Given the description of an element on the screen output the (x, y) to click on. 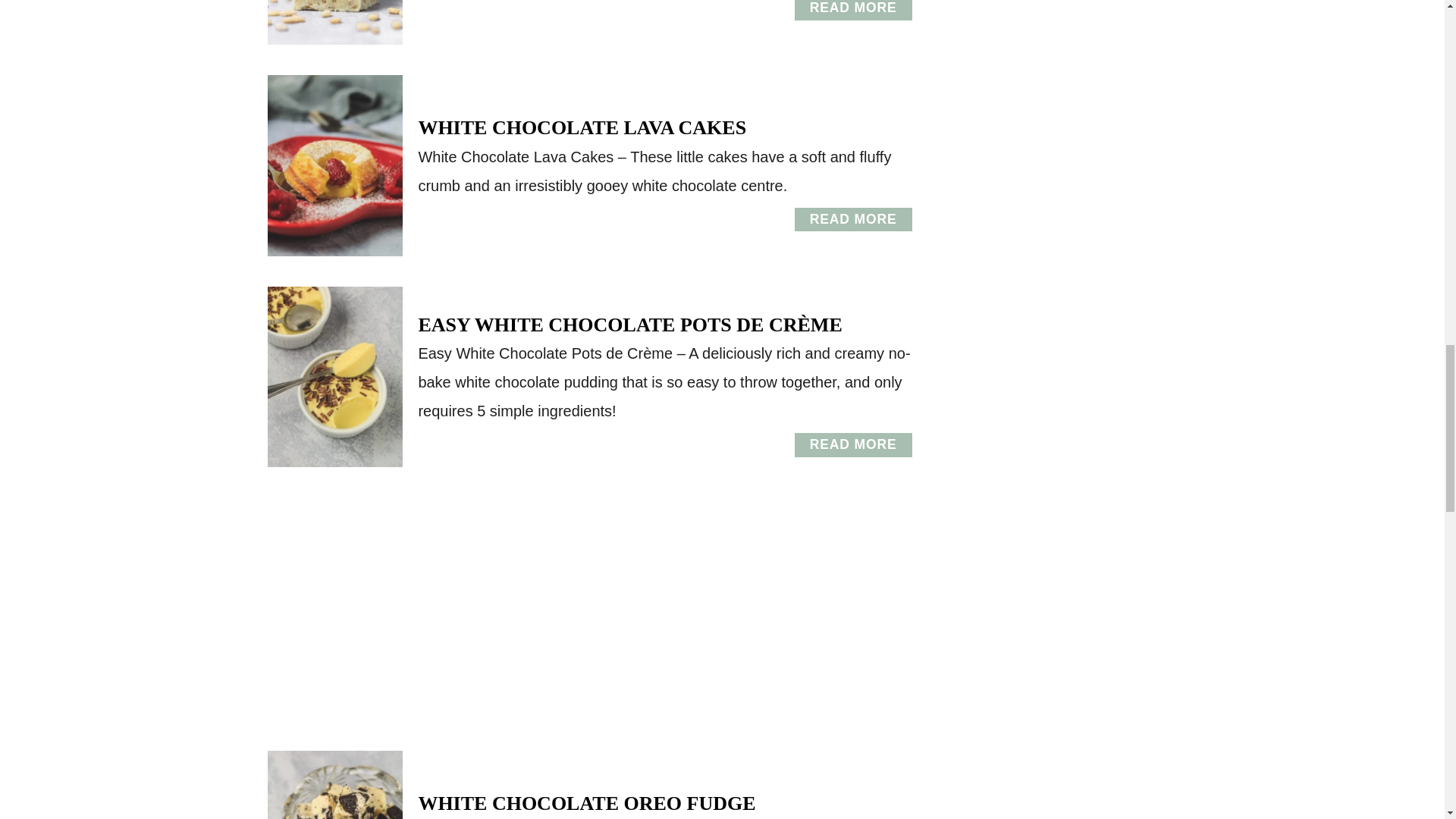
WHITE CHOCOLATE OREO FUDGE (586, 803)
White Chocolate Oreo Fudge (853, 219)
WHITE CHOCOLATE LAVA CAKES (334, 785)
White Chocolate Crunch Bars (853, 10)
